Given the description of an element on the screen output the (x, y) to click on. 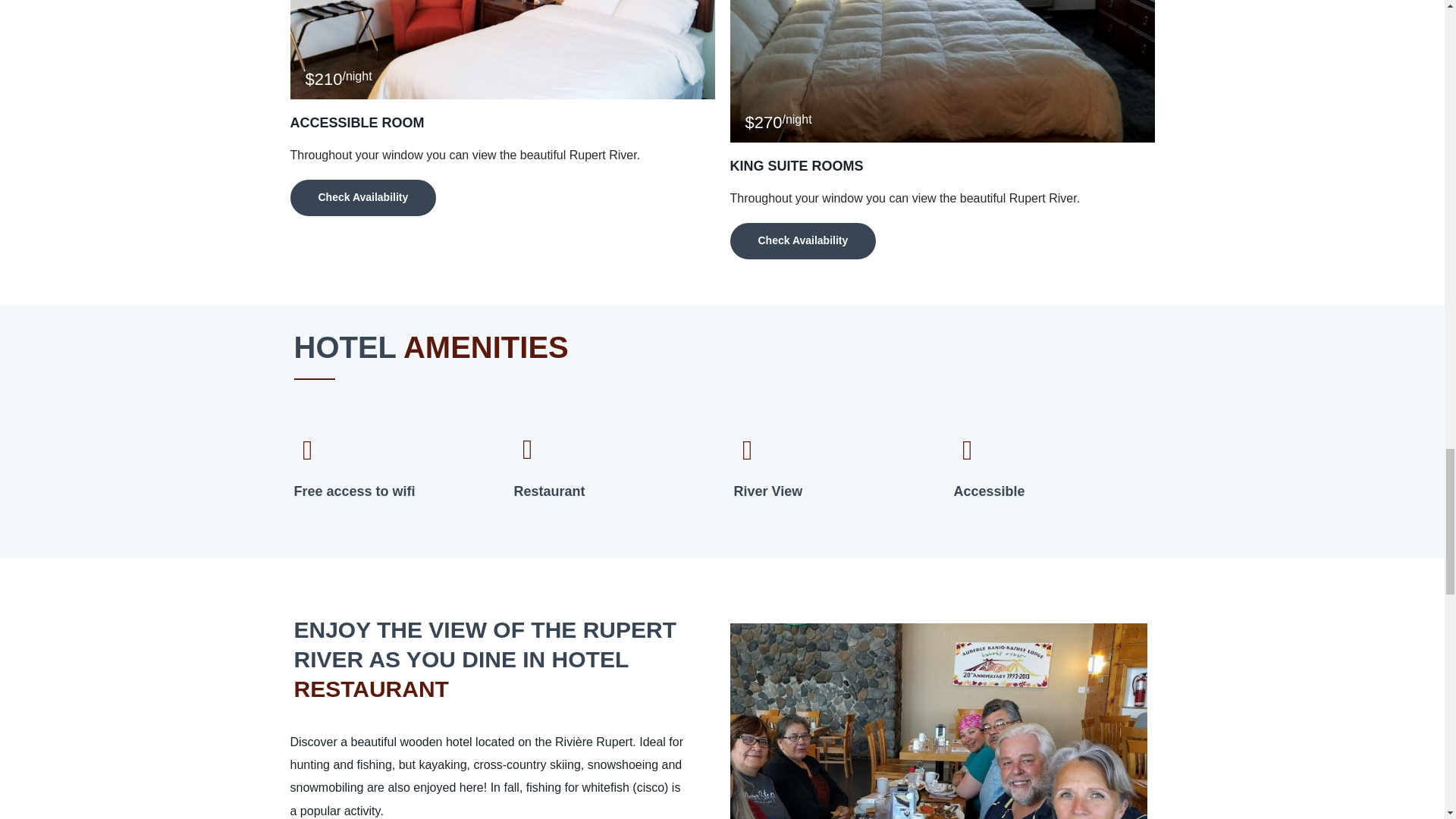
ACCESSIBLE ROOM (356, 122)
Check Availability (362, 197)
KING SUITE ROOMS (796, 165)
